Given the description of an element on the screen output the (x, y) to click on. 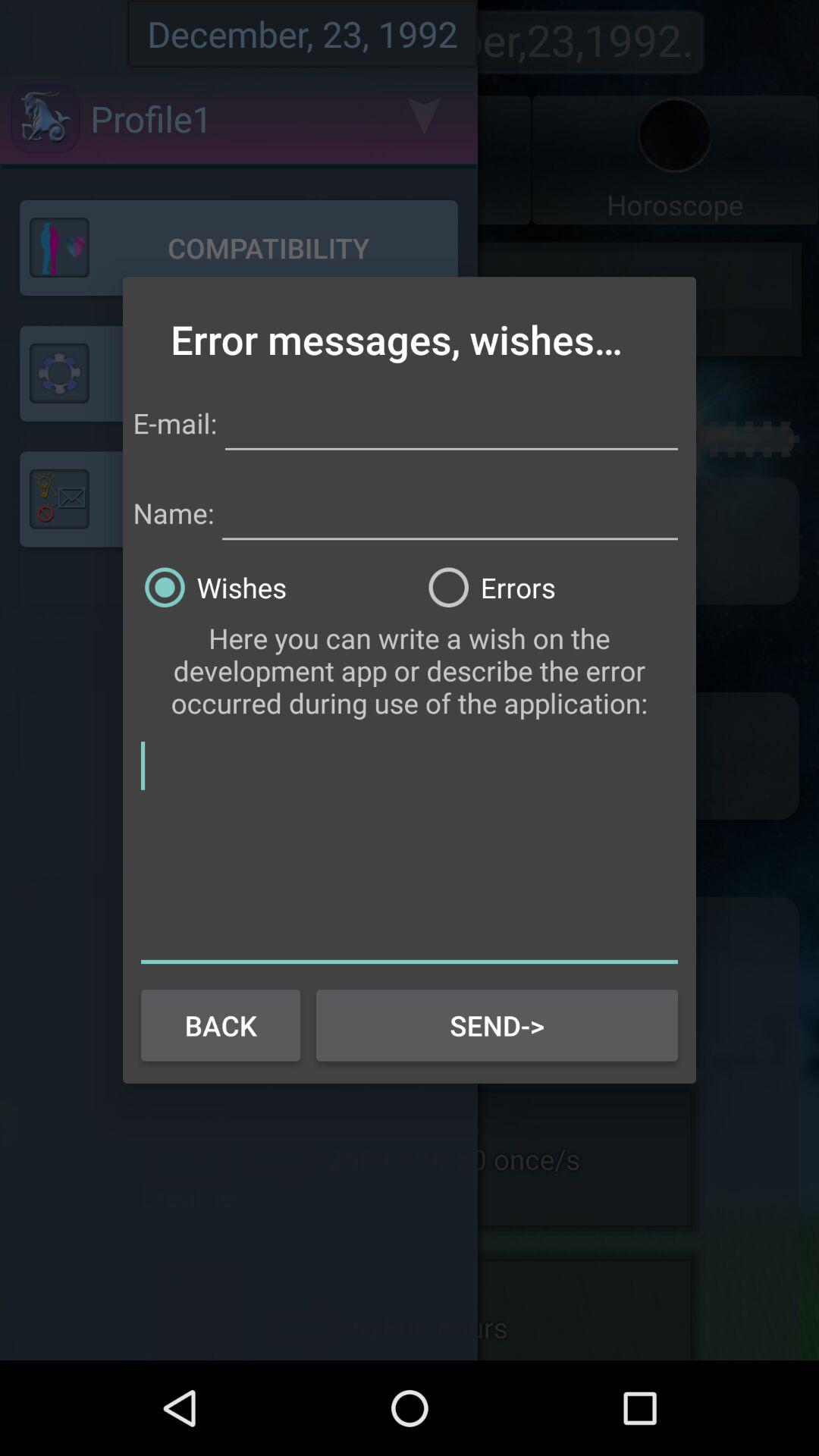
open the item on the right (550, 587)
